Given the description of an element on the screen output the (x, y) to click on. 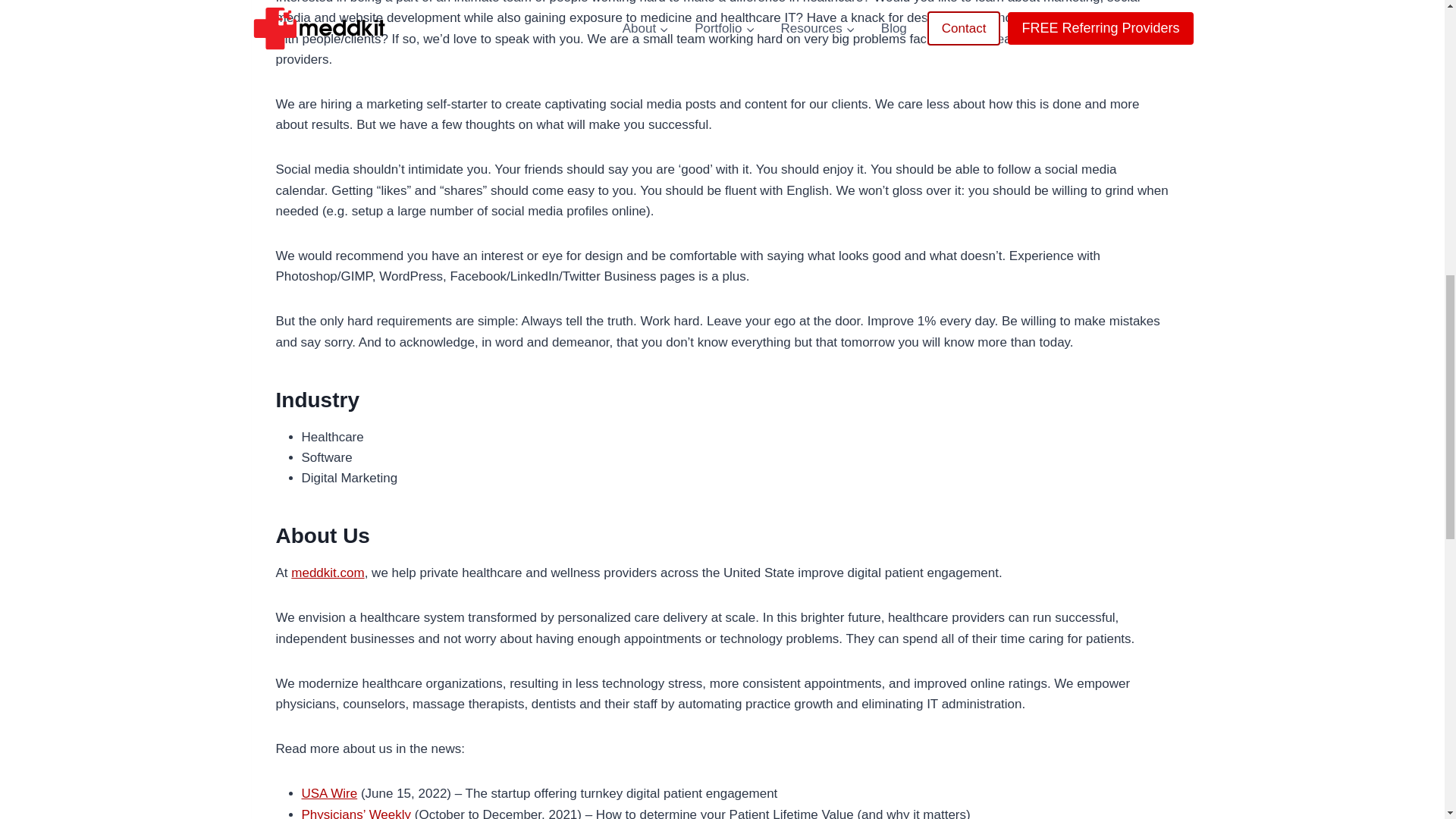
USA Wire (329, 793)
meddkit.com (327, 572)
